Given the description of an element on the screen output the (x, y) to click on. 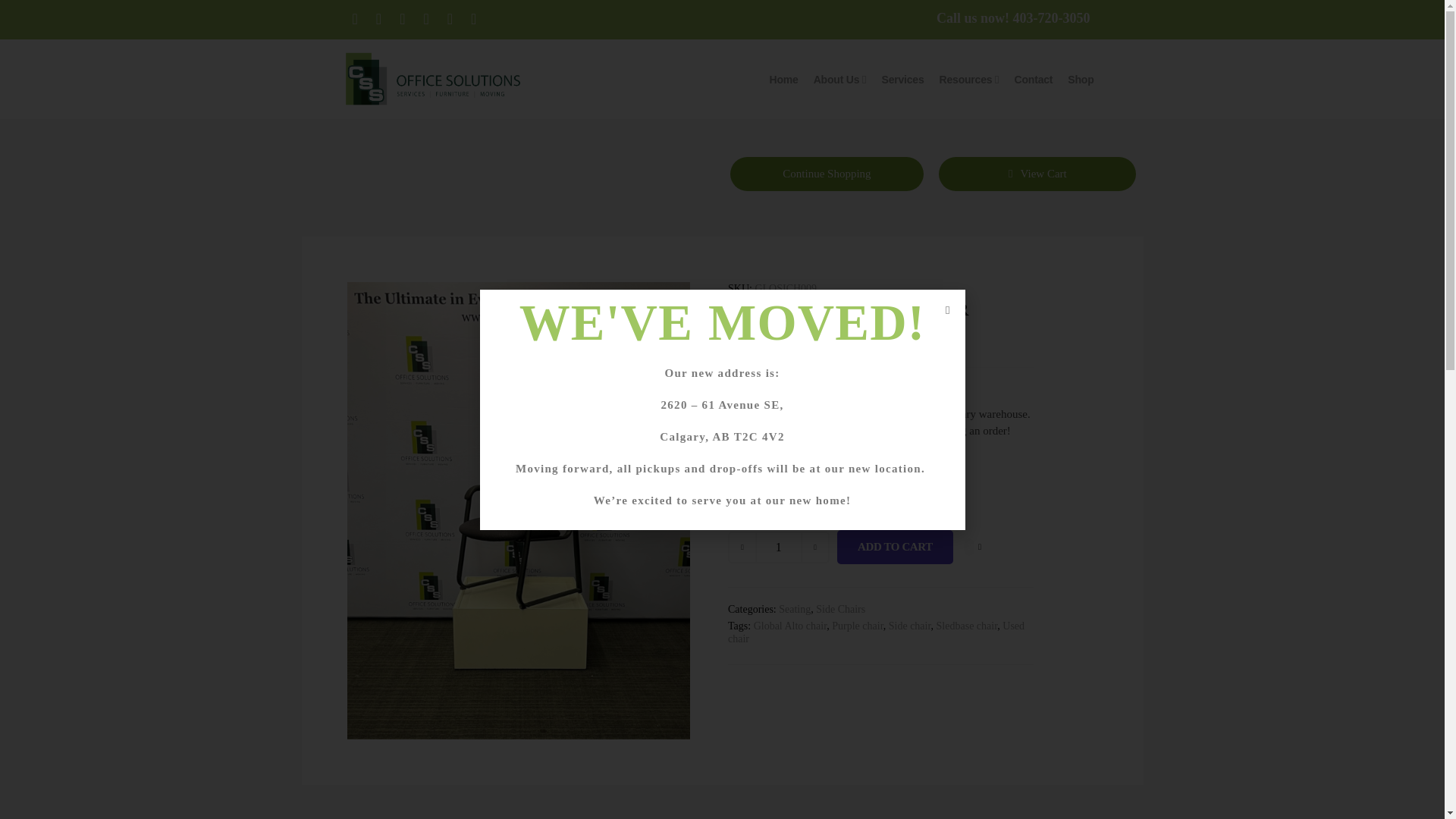
Product Thumbnail (643, 312)
Contact (1033, 79)
ADD TO CART (895, 546)
About Us (836, 79)
1 (778, 546)
Continue Shopping (826, 173)
Seating (794, 609)
Resources (965, 79)
Services (903, 79)
403-720-3050 (1050, 17)
View Cart (1037, 173)
